Given the description of an element on the screen output the (x, y) to click on. 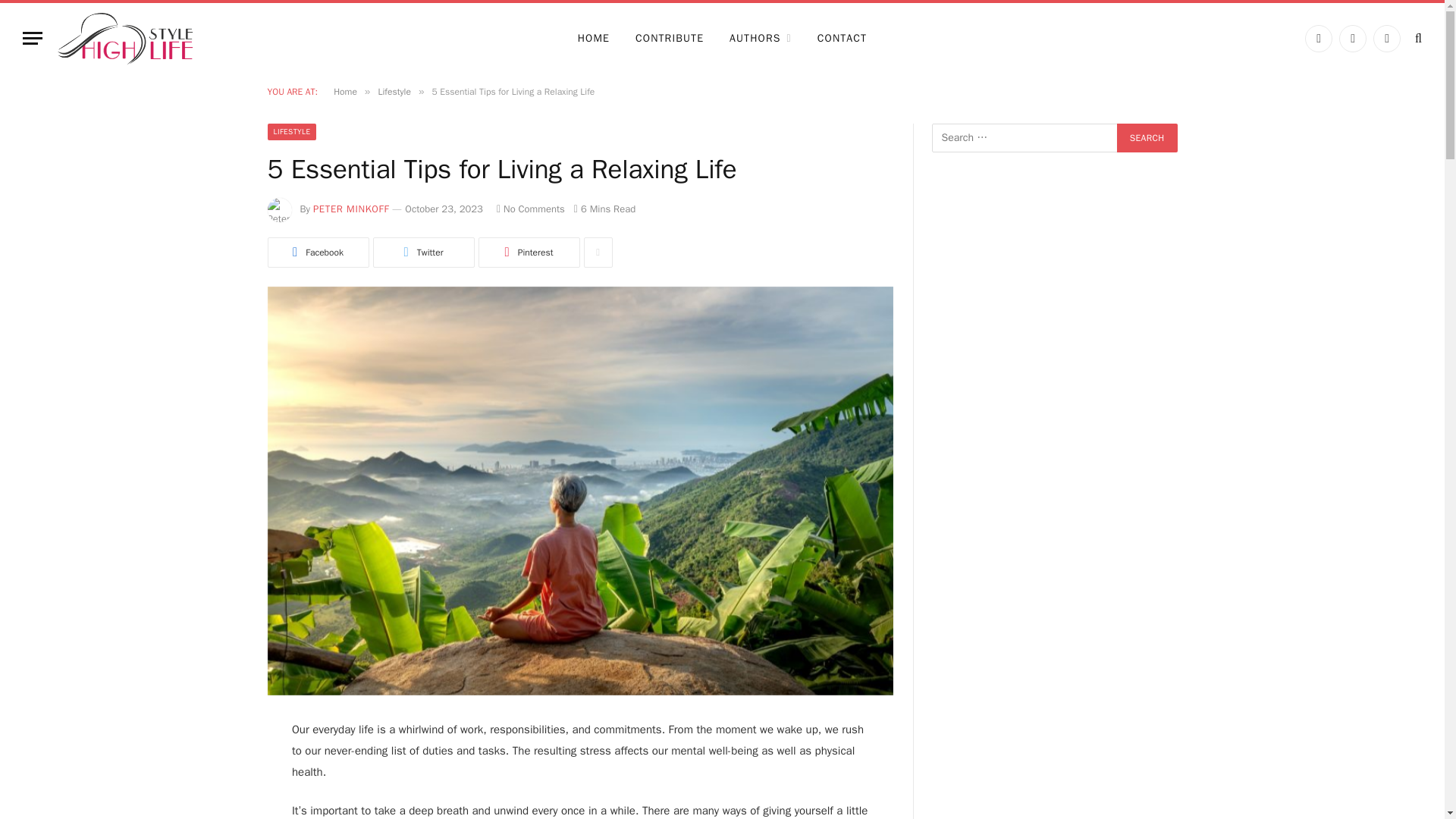
Search (1146, 137)
LIFESTYLE (290, 131)
Share on Pinterest (528, 252)
Show More Social Sharing (597, 252)
Facebook (1318, 38)
Share on Facebook (317, 252)
Posts by Peter Minkoff (350, 208)
Twitter (423, 252)
CONTRIBUTE (669, 38)
